Given the description of an element on the screen output the (x, y) to click on. 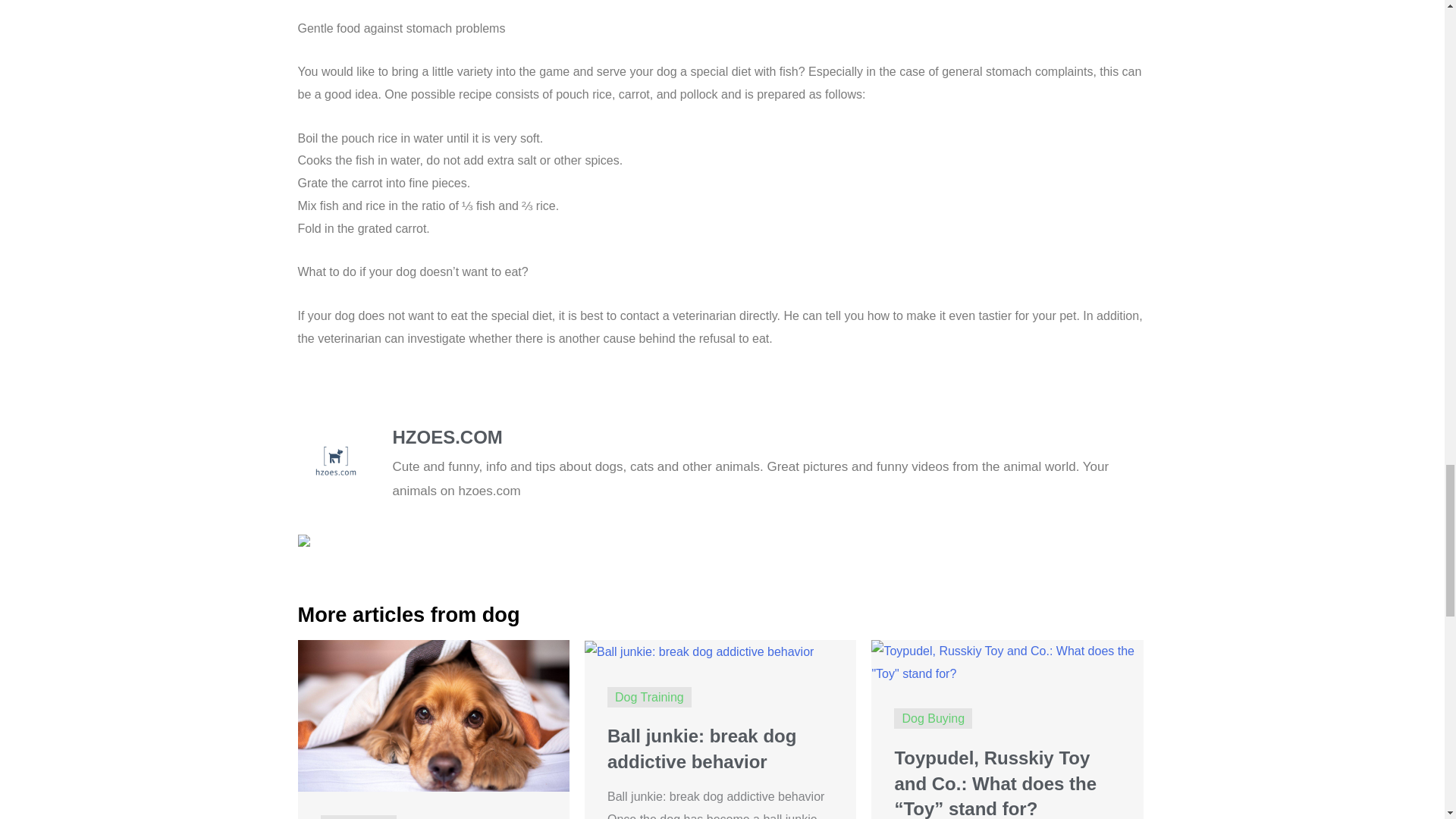
Ball junkie: break dog addictive behavior (701, 748)
Dog Training (649, 697)
Ball junkie: break dog addictive behavior (699, 650)
Dog Buying (932, 717)
